Given the description of an element on the screen output the (x, y) to click on. 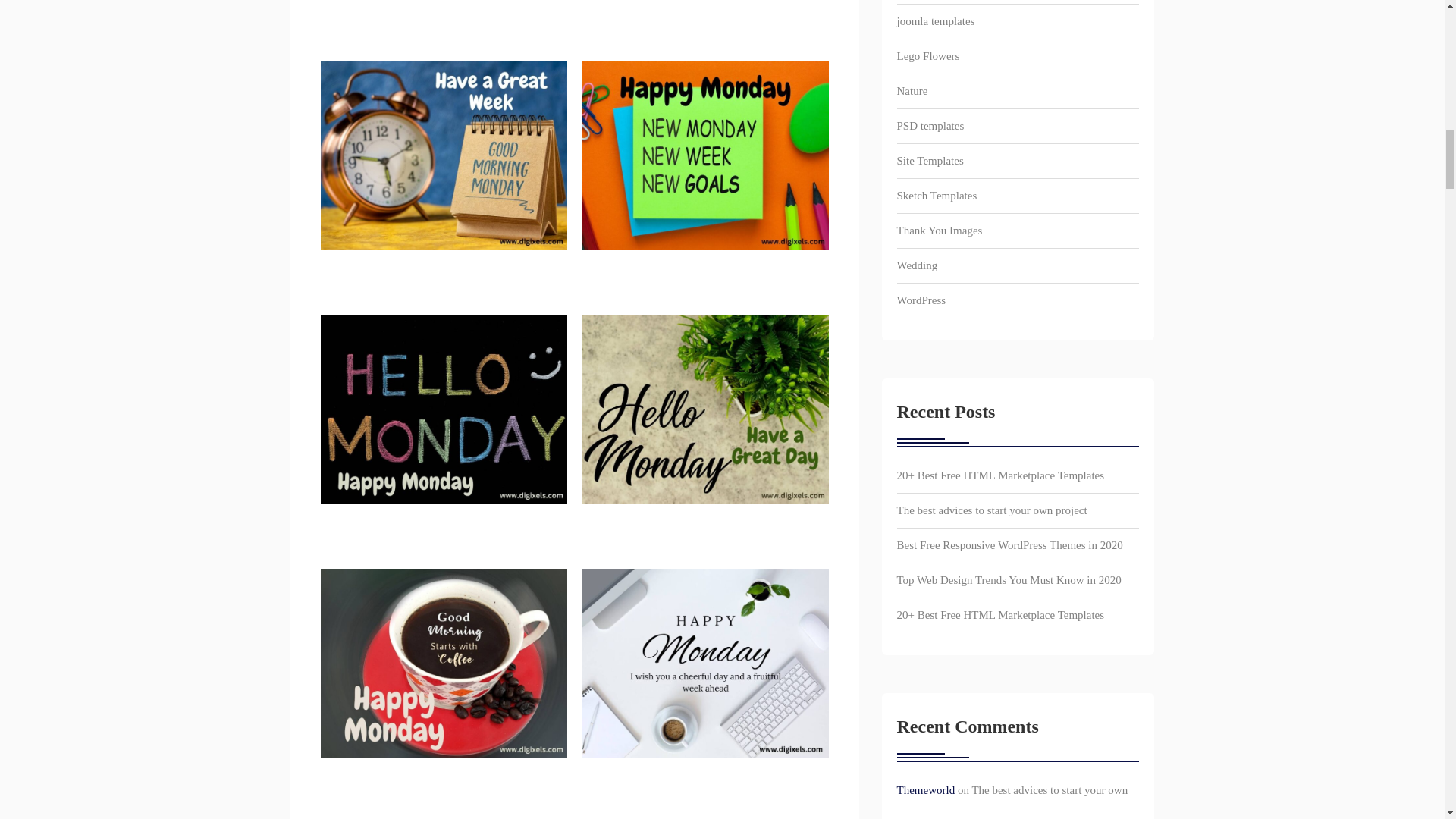
5K Happy Monday Images Free Download With Quotes 4 (443, 155)
5K Happy Monday Images Free Download With Quotes 7 (705, 409)
5K Happy Monday Images Free Download With Quotes 5 (705, 155)
5K Happy Monday Images Free Download With Quotes 6 (443, 409)
